Given the description of an element on the screen output the (x, y) to click on. 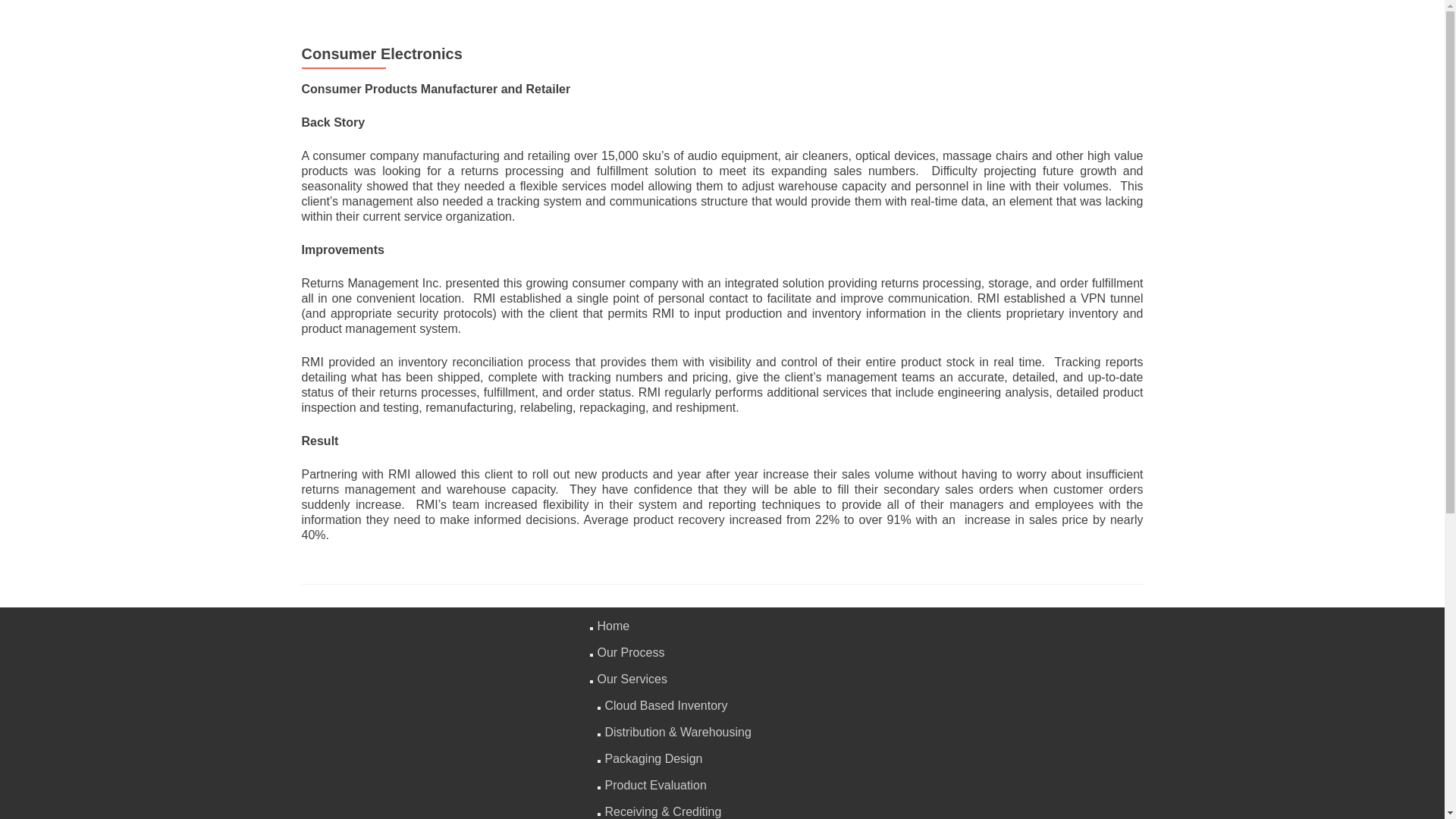
Packaging Design (654, 758)
Our Services (631, 678)
Home (613, 625)
Product Evaluation (655, 784)
Our Process (630, 652)
Cloud Based Inventory (666, 705)
